Given the description of an element on the screen output the (x, y) to click on. 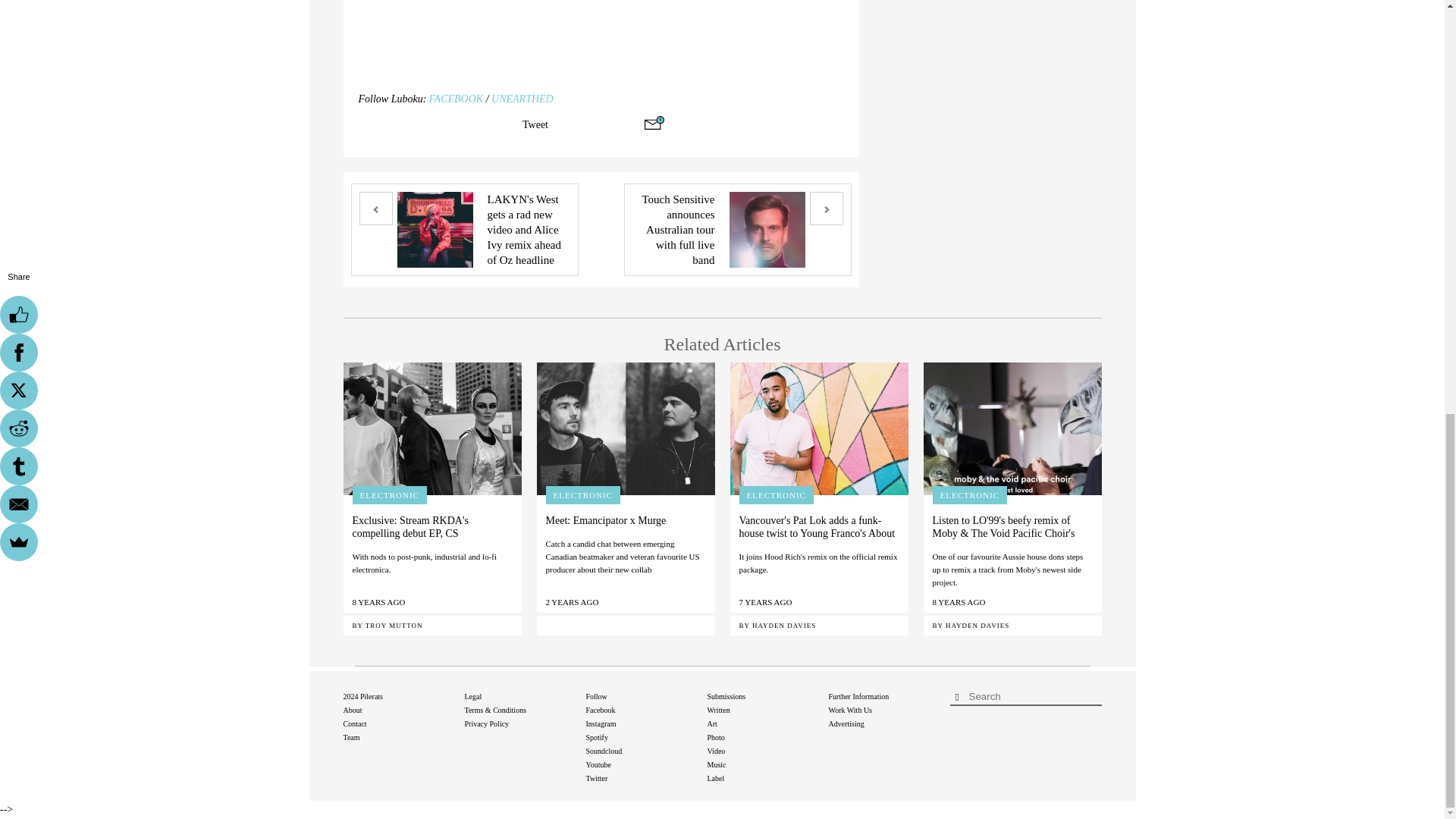
Share via email (654, 122)
